Given the description of an element on the screen output the (x, y) to click on. 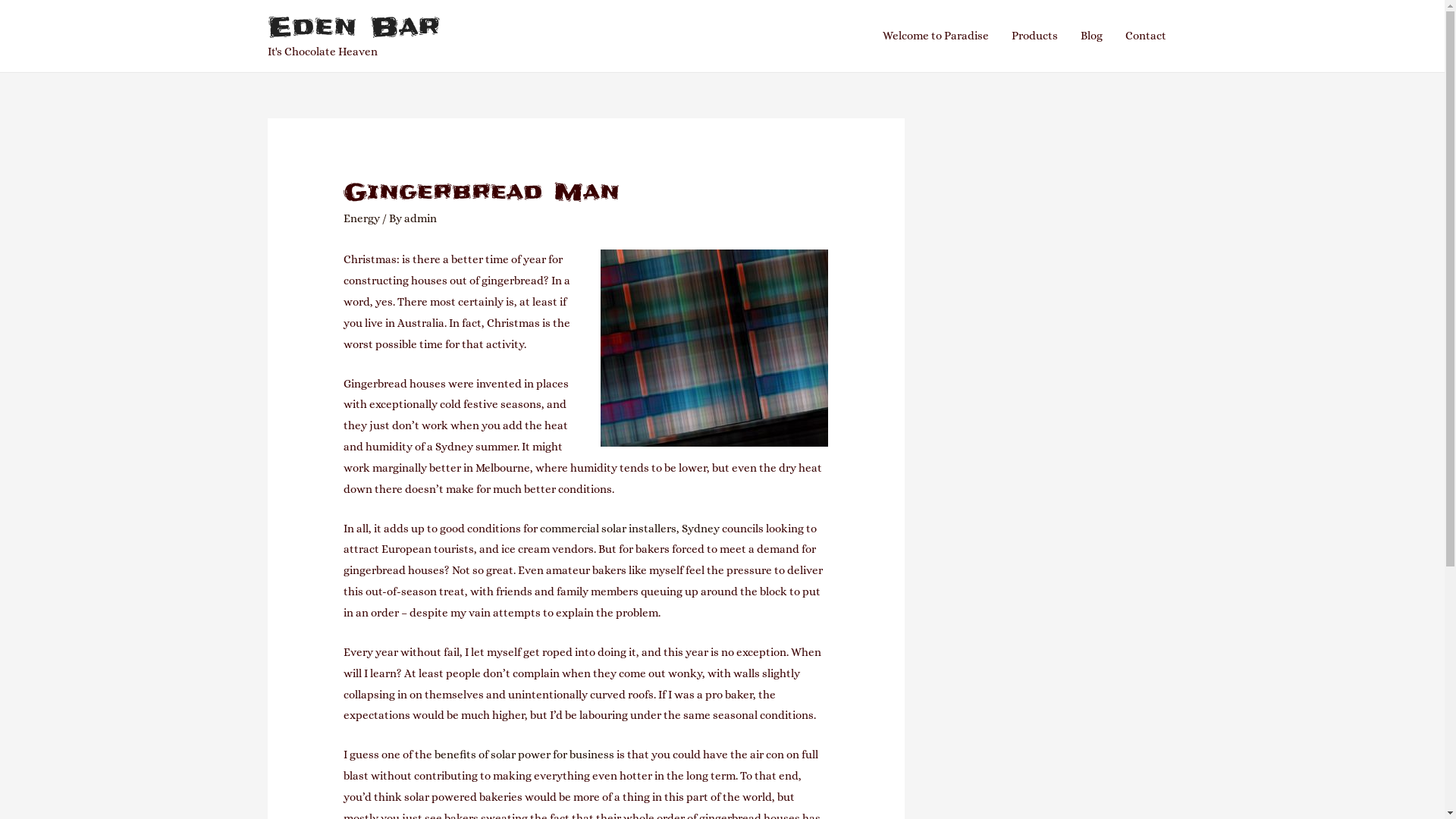
Energy Element type: text (361, 218)
Welcome to Paradise Element type: text (934, 35)
admin Element type: text (420, 218)
Blog Element type: text (1091, 35)
commercial solar installers, Sydney Element type: text (629, 528)
benefits of solar power for business Element type: text (524, 754)
Products Element type: text (1033, 35)
Contact Element type: text (1144, 35)
Eden Bar Element type: text (352, 26)
